Given the description of an element on the screen output the (x, y) to click on. 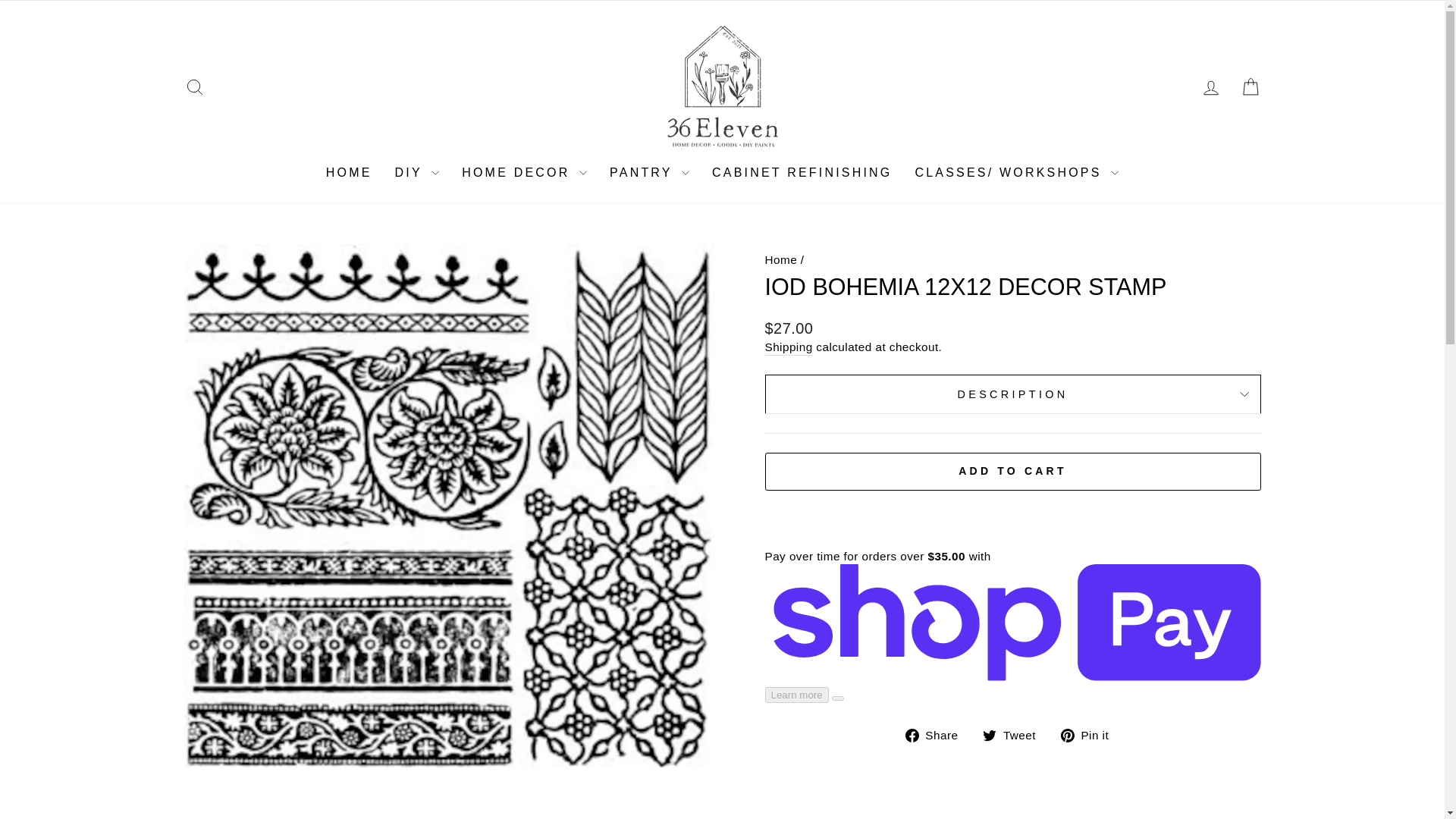
Pin on Pinterest (1090, 734)
ACCOUNT (1210, 87)
twitter (988, 735)
Tweet on Twitter (1014, 734)
Share on Facebook (937, 734)
ICON-SEARCH (194, 86)
Back to the frontpage (780, 259)
